Given the description of an element on the screen output the (x, y) to click on. 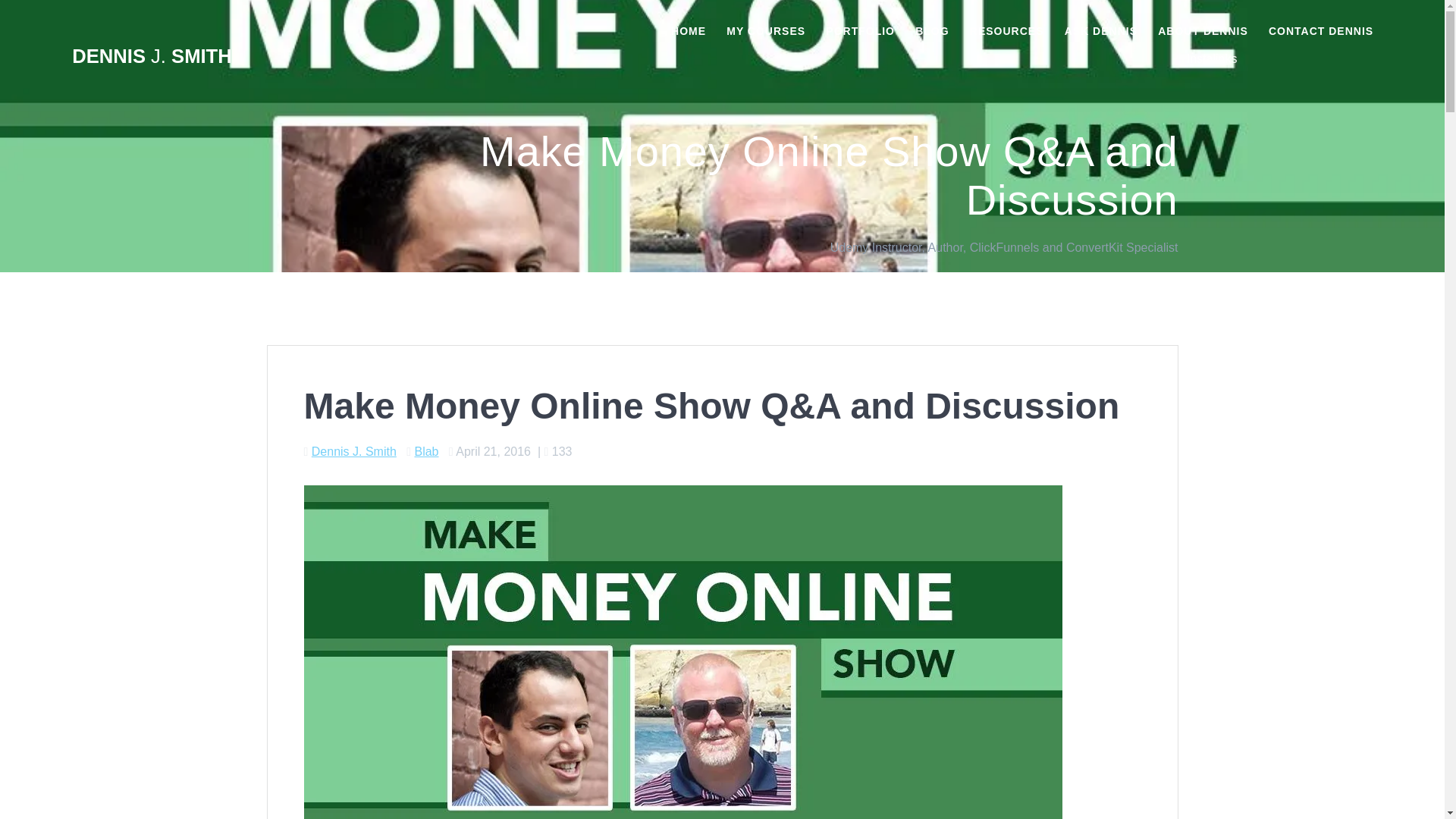
CONTACT DENNIS (1320, 30)
MY COURSES (765, 30)
BLOG (932, 30)
ABOUT DENNIS (1202, 30)
HOME (688, 30)
ASK DENNIS (1100, 30)
Dennis J. Smith (353, 451)
Instagram Links (1211, 58)
PORTFOLIO (860, 30)
DENNIS J. SMITH (151, 56)
